Given the description of an element on the screen output the (x, y) to click on. 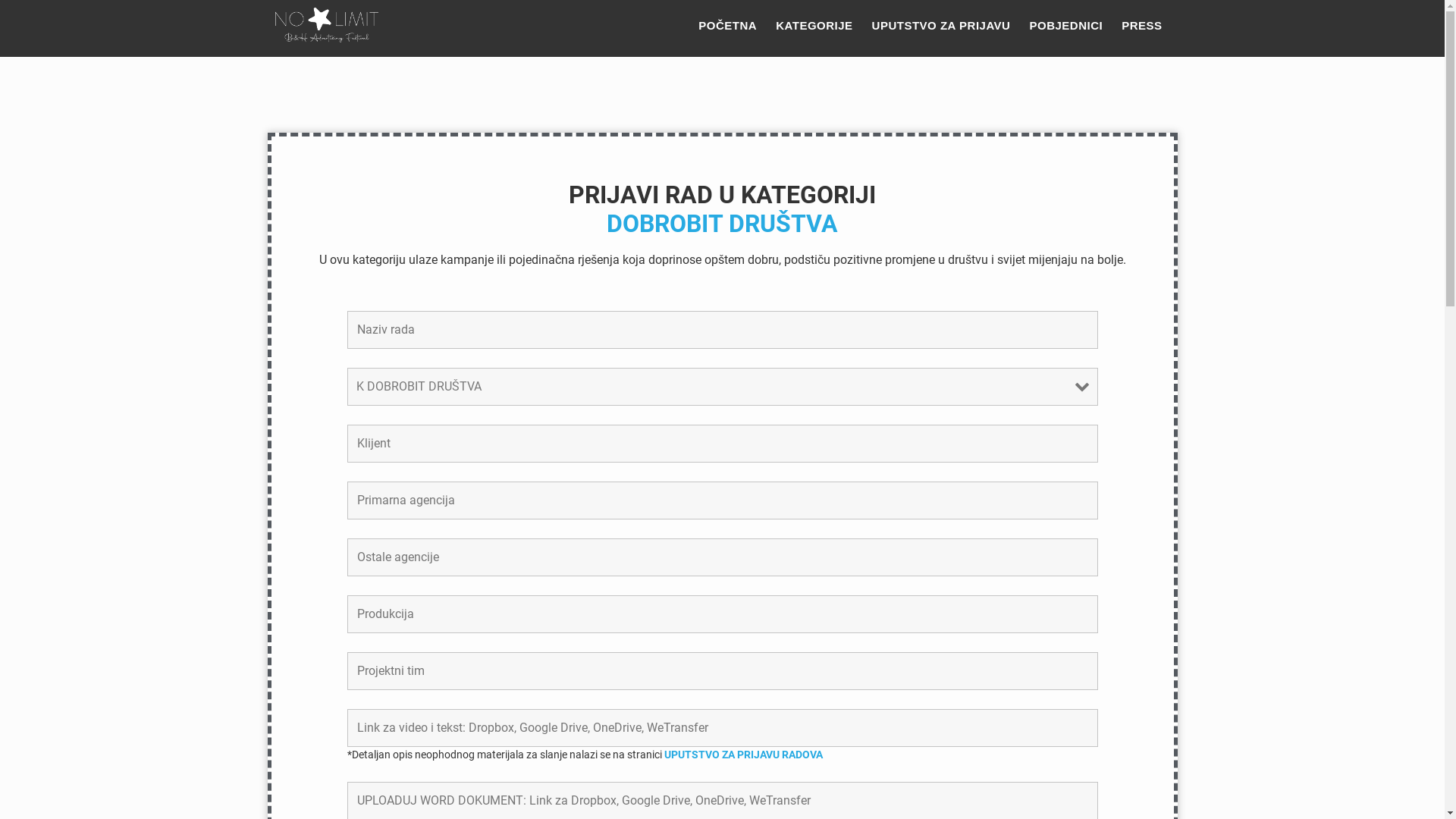
PRESS Element type: text (1141, 25)
KATEGORIJE Element type: text (813, 25)
POBJEDNICI Element type: text (1065, 25)
UPUTSTVO ZA PRIJAVU RADOVA Element type: text (743, 754)
UPUTSTVO ZA PRIJAVU Element type: text (941, 25)
